Given the description of an element on the screen output the (x, y) to click on. 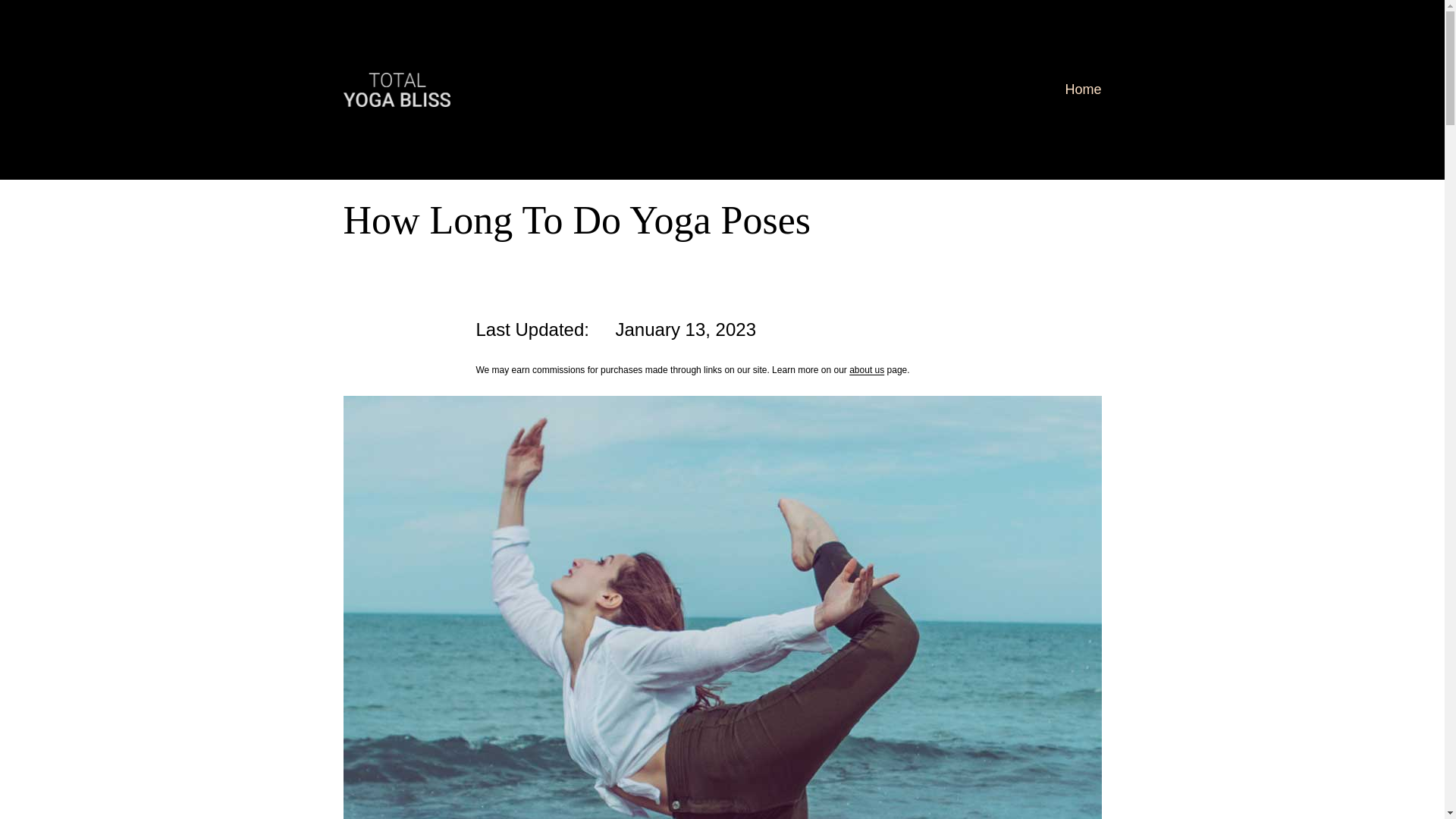
about us (865, 369)
Home (1082, 89)
